Given the description of an element on the screen output the (x, y) to click on. 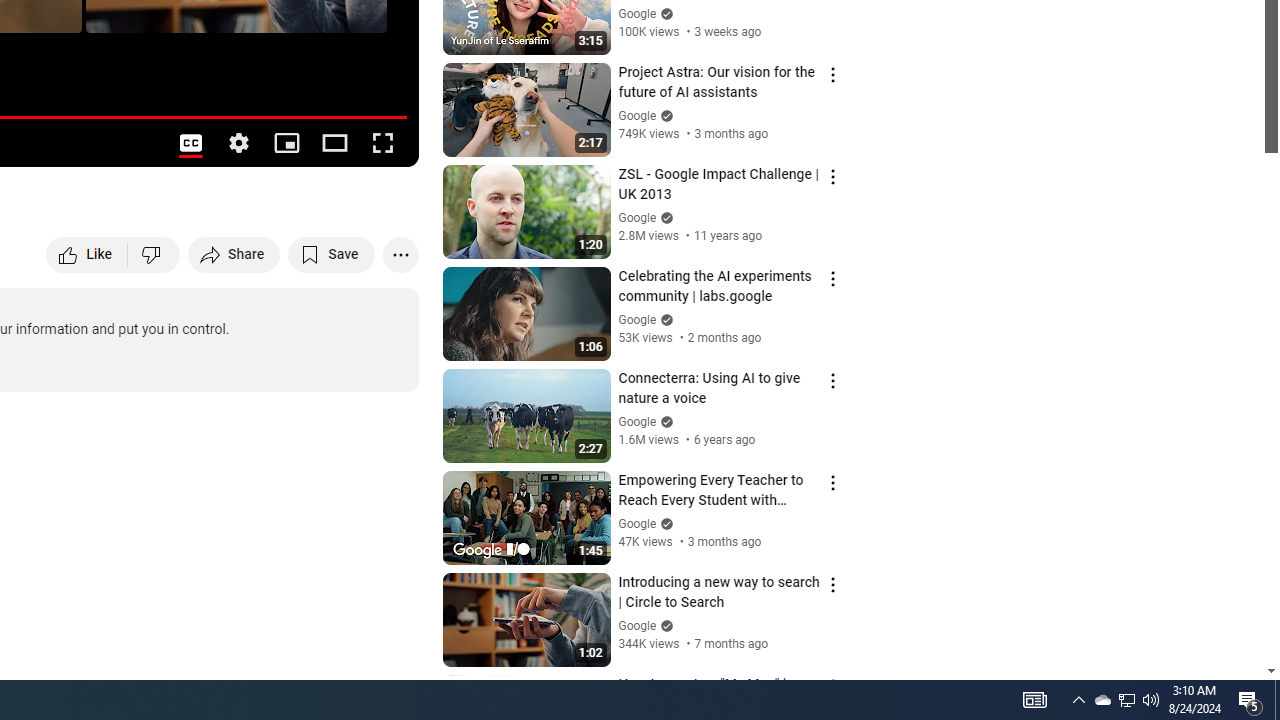
Like (87, 254)
Save to playlist (331, 254)
Theater mode (t) (333, 142)
Dislike this video (154, 254)
Full screen (f) (382, 142)
More actions (399, 254)
Share (234, 254)
Miniplayer (i) (286, 142)
